Given the description of an element on the screen output the (x, y) to click on. 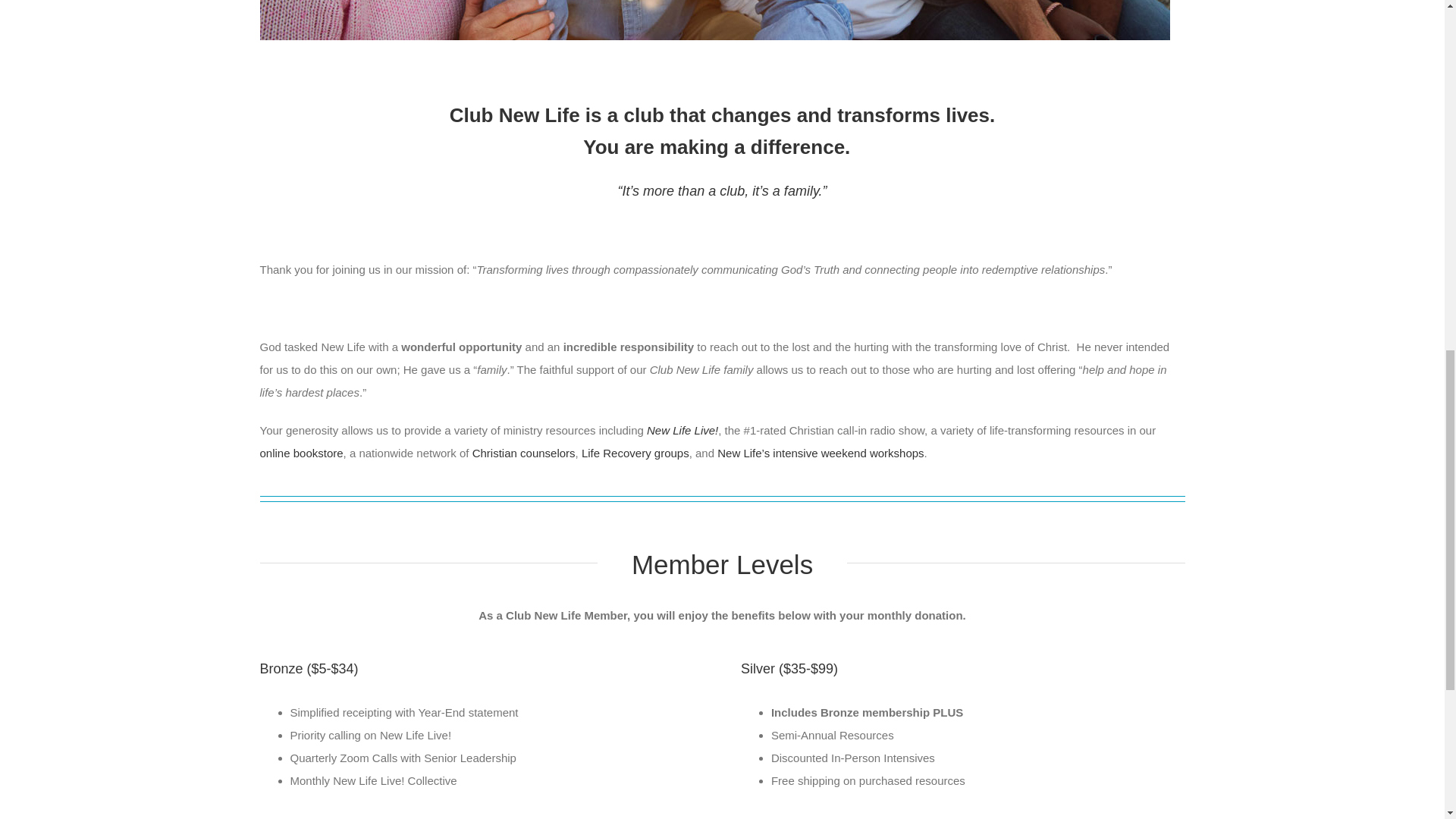
cnl-family-03-web (714, 20)
